Given the description of an element on the screen output the (x, y) to click on. 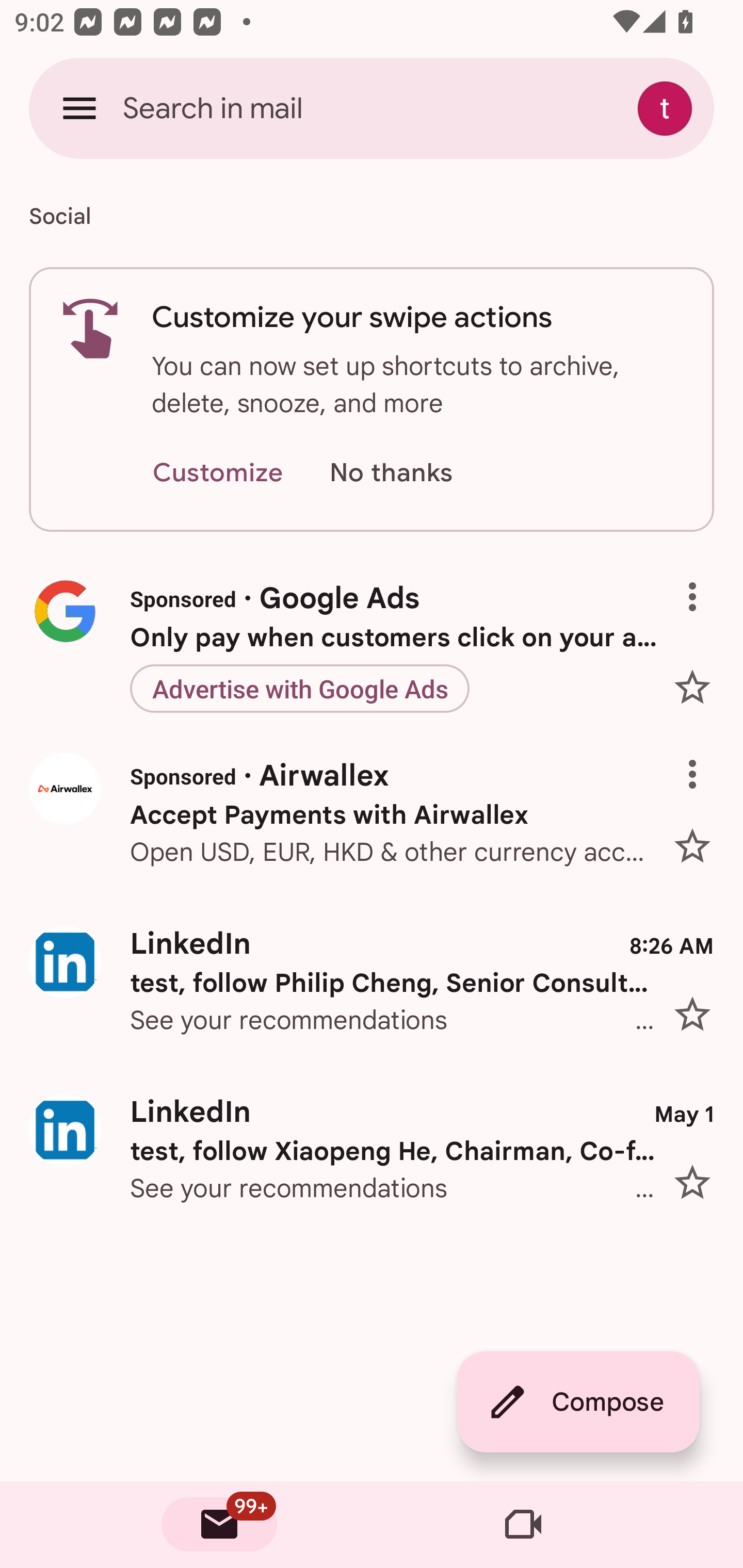
Open navigation drawer (79, 108)
Customize (217, 473)
No thanks (390, 473)
Ad info (699, 581)
Add star (699, 687)
Advertise with Google Ads (299, 688)
Ad info (699, 760)
Add star (699, 839)
Compose (577, 1401)
Meet (523, 1524)
